Given the description of an element on the screen output the (x, y) to click on. 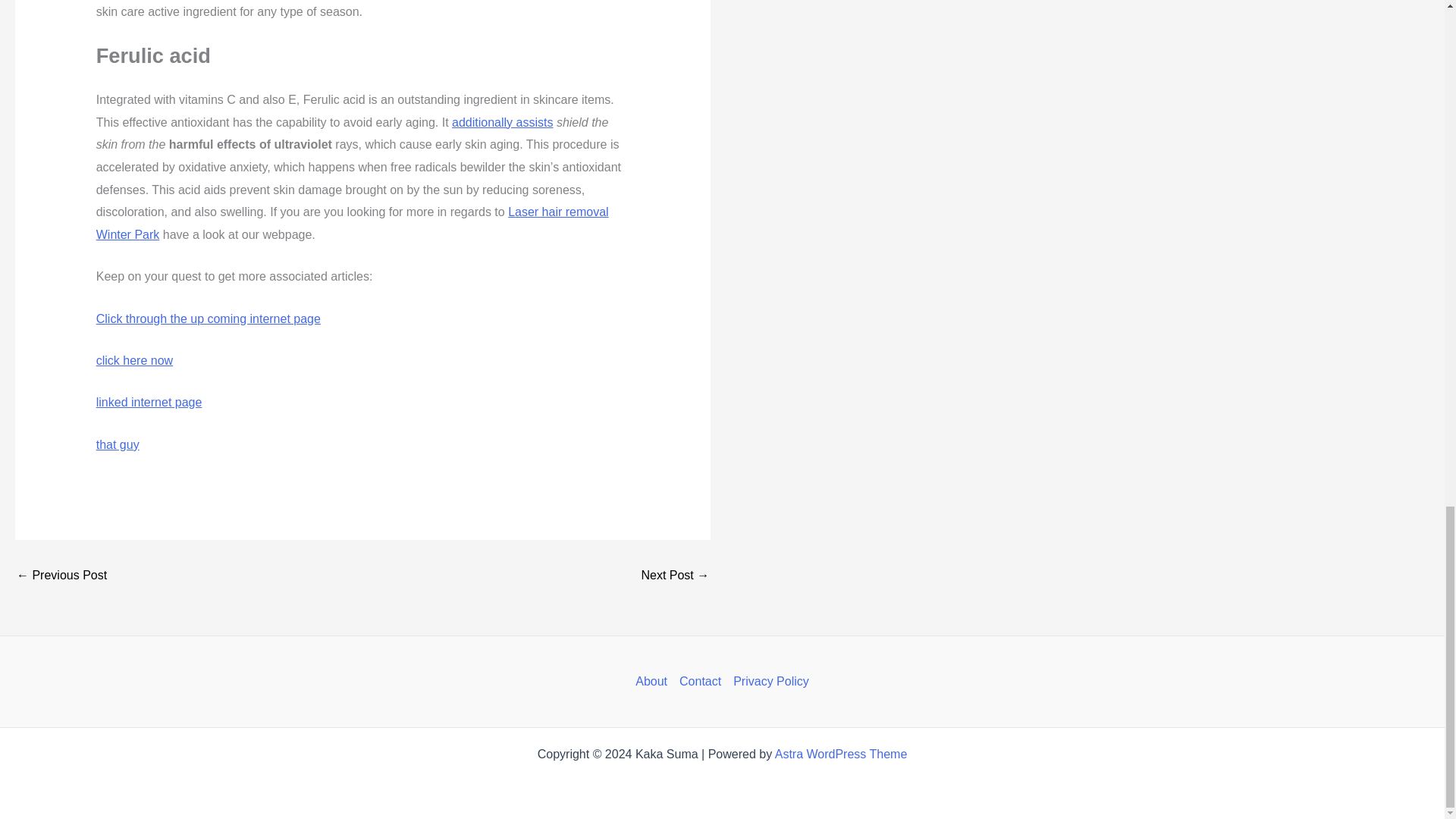
About (653, 681)
that guy (117, 444)
Privacy Policy (767, 681)
How To Locate A Virtual Assistant (674, 575)
additionally assists (502, 122)
Astra WordPress Theme (840, 753)
Click through the up coming internet page (208, 318)
Contact (699, 681)
How Reading Books Helps Your Memory (61, 575)
linked internet page (149, 401)
Laser hair removal Winter Park (352, 222)
click here now (134, 359)
